Given the description of an element on the screen output the (x, y) to click on. 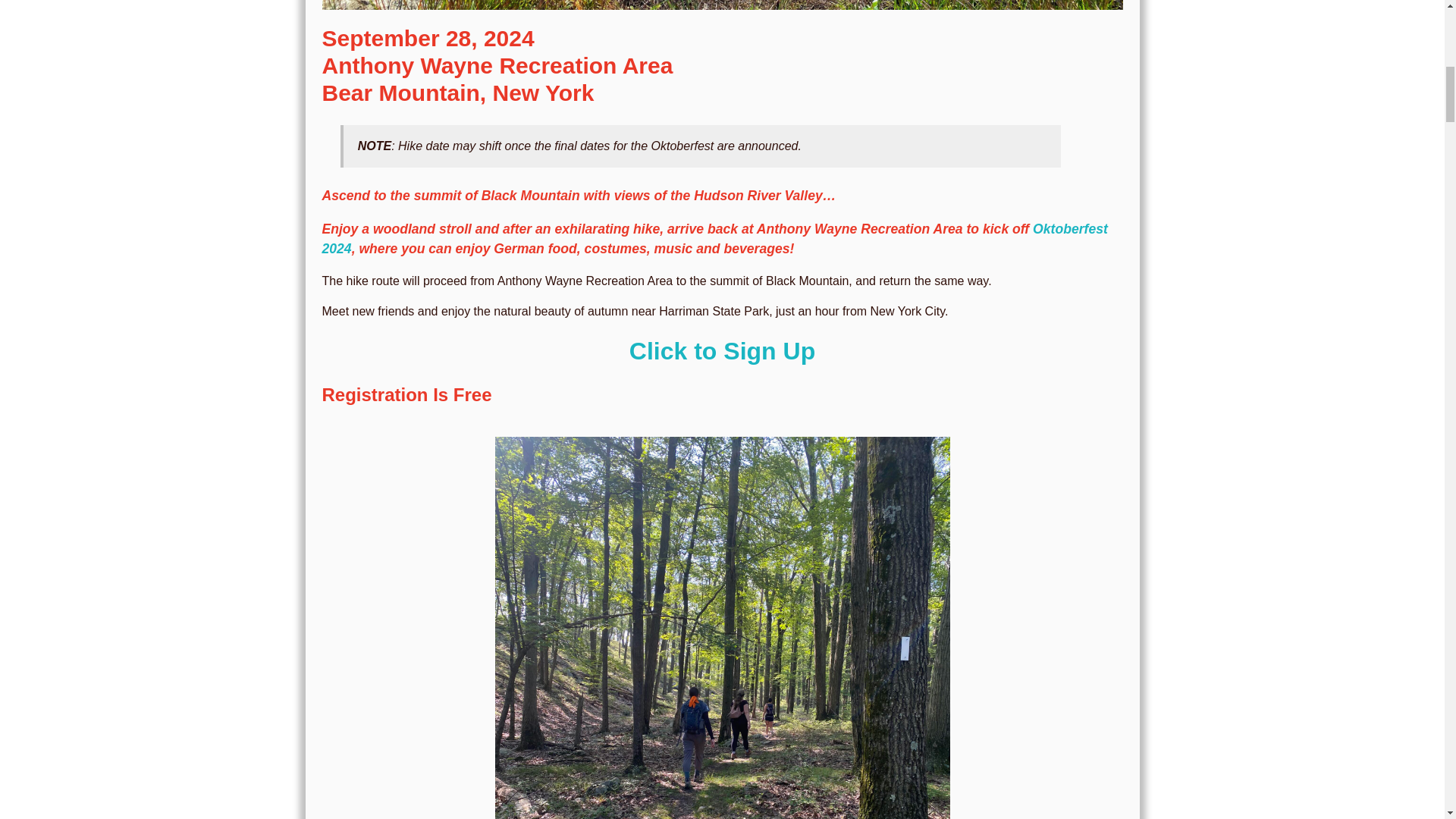
Click to Sign Up (721, 350)
Register for a hike (721, 350)
Oktoberfest 2024 (713, 238)
